Given the description of an element on the screen output the (x, y) to click on. 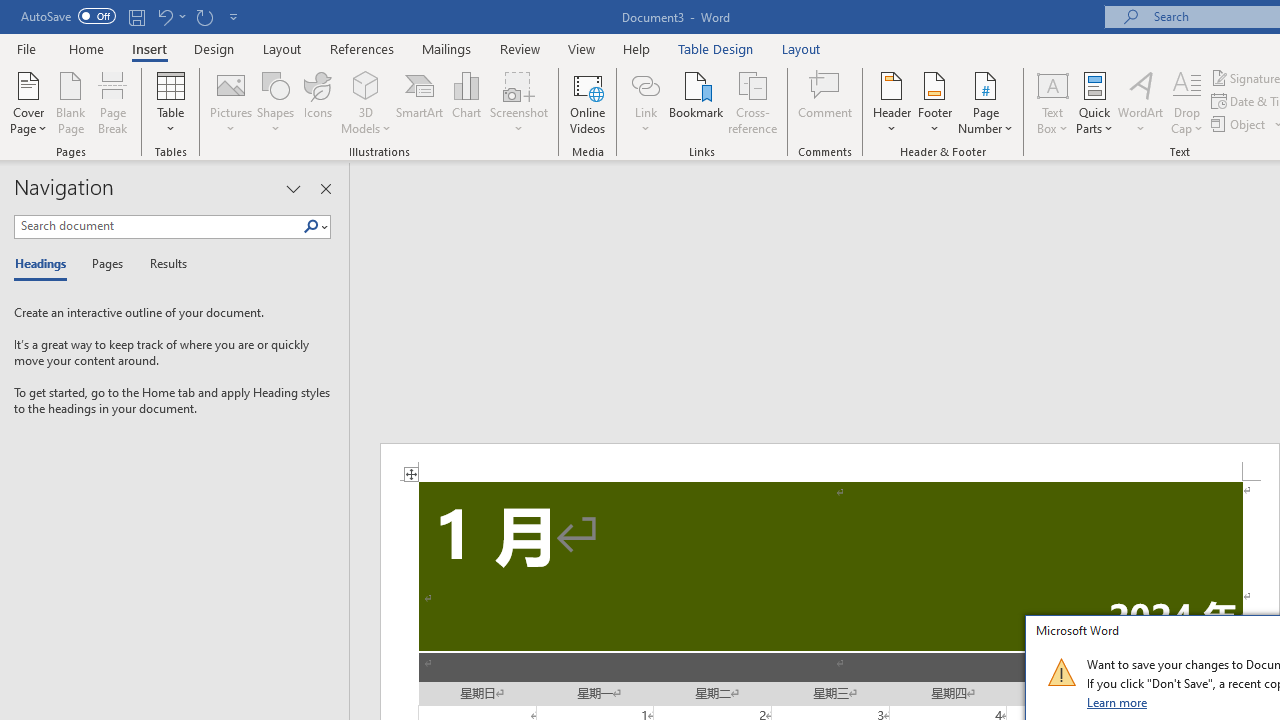
Task Pane Options (293, 188)
Chart... (466, 102)
Insert (149, 48)
File Tab (26, 48)
System (10, 11)
Object... (1240, 124)
Save (136, 15)
Text Box (1052, 102)
Learn more (1118, 702)
Headings (45, 264)
Page Break (113, 102)
Shapes (275, 102)
Header (891, 102)
AutoSave (68, 16)
WordArt (1141, 102)
